Given the description of an element on the screen output the (x, y) to click on. 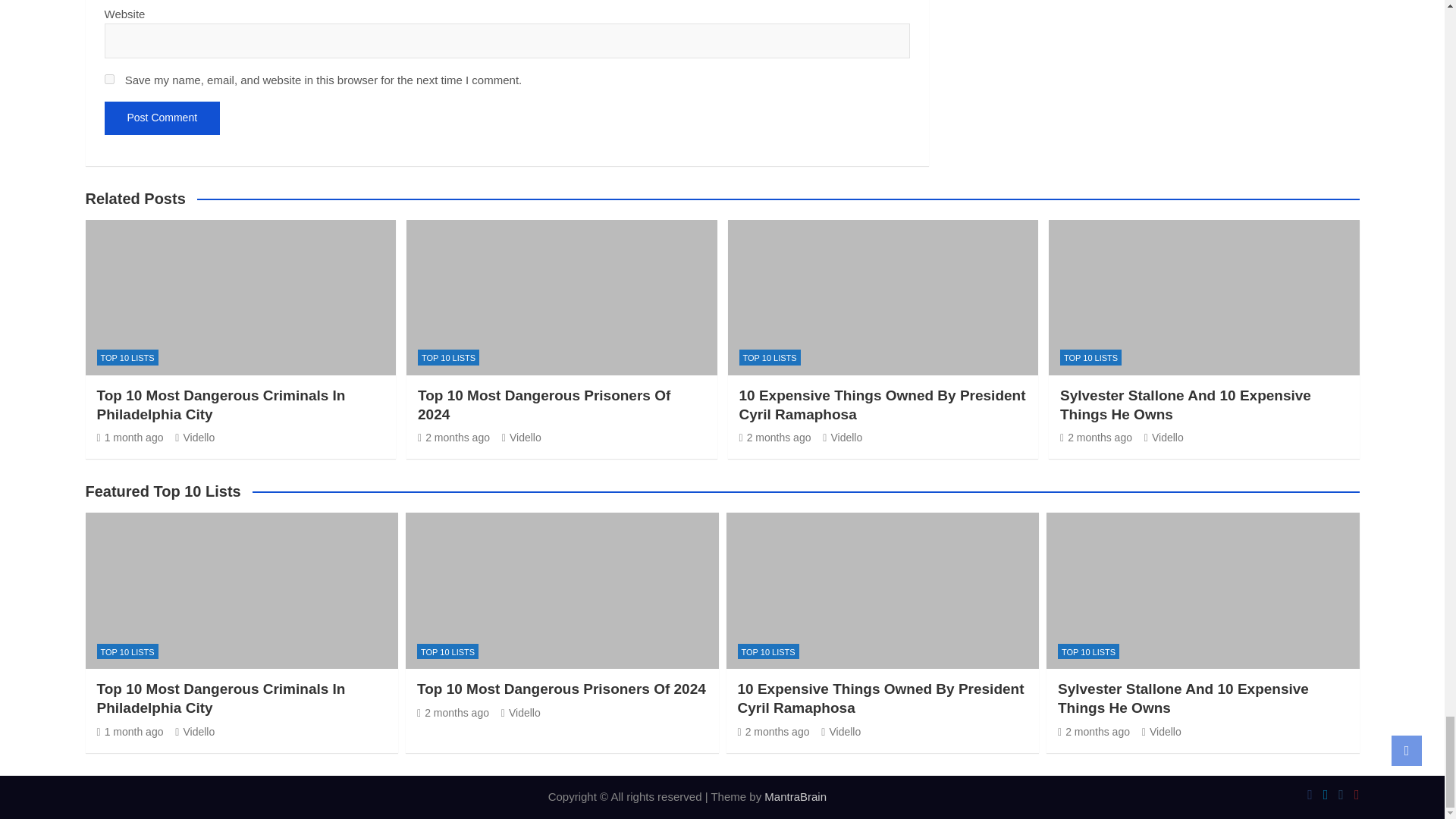
Sylvester Stallone And 10 Expensive Things He Owns (1093, 731)
Top 10 Most Dangerous Prisoners Of 2024 (453, 437)
10 Expensive Things Owned By President Cyril Ramaphosa (772, 731)
Top 10 Most Dangerous Criminals In Philadelphia City (130, 437)
Top 10 Most Dangerous Prisoners Of 2024 (452, 712)
yes (109, 79)
Post Comment (162, 118)
Top 10 Most Dangerous Criminals In Philadelphia City (130, 731)
Sylvester Stallone And 10 Expensive Things He Owns (1095, 437)
MantraBrain (795, 796)
10 Expensive Things Owned By President Cyril Ramaphosa (774, 437)
